Given the description of an element on the screen output the (x, y) to click on. 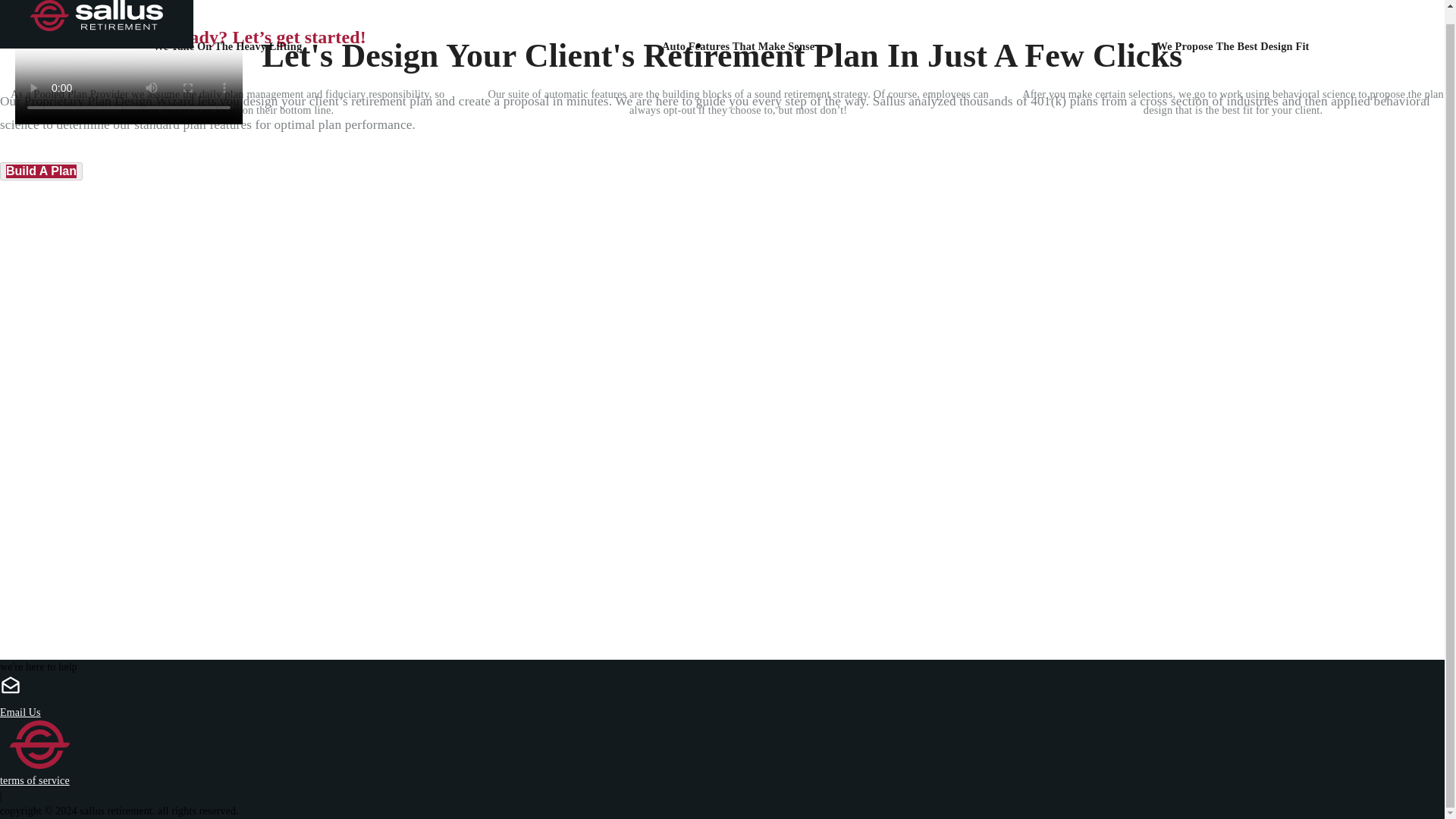
SallusRetirementLogo (96, 8)
SallusIcon (40, 744)
terms of service (34, 780)
Build A Plan (41, 171)
